Given the description of an element on the screen output the (x, y) to click on. 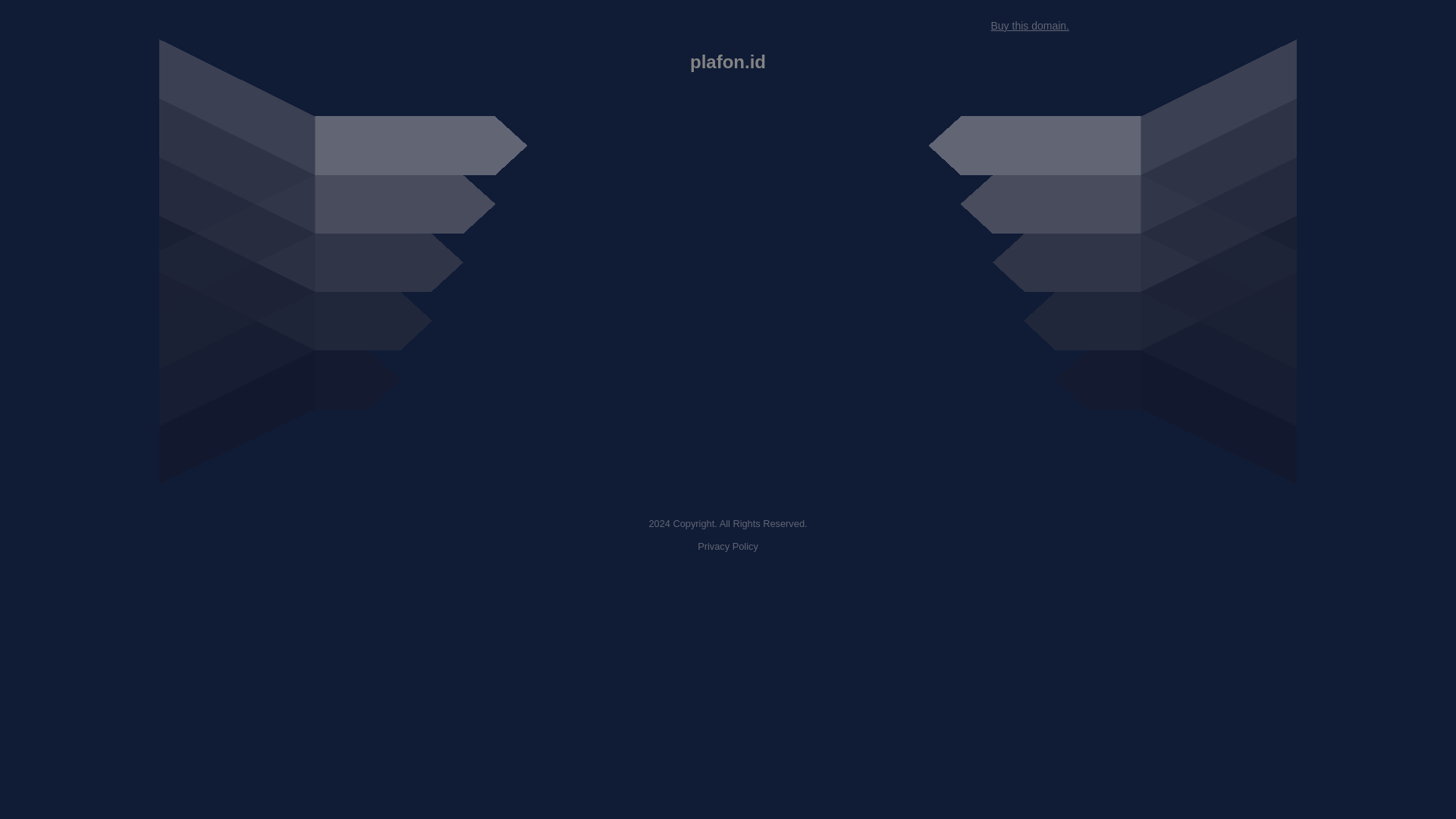
Privacy Policy (727, 546)
Buy this domain. (1029, 25)
